Given the description of an element on the screen output the (x, y) to click on. 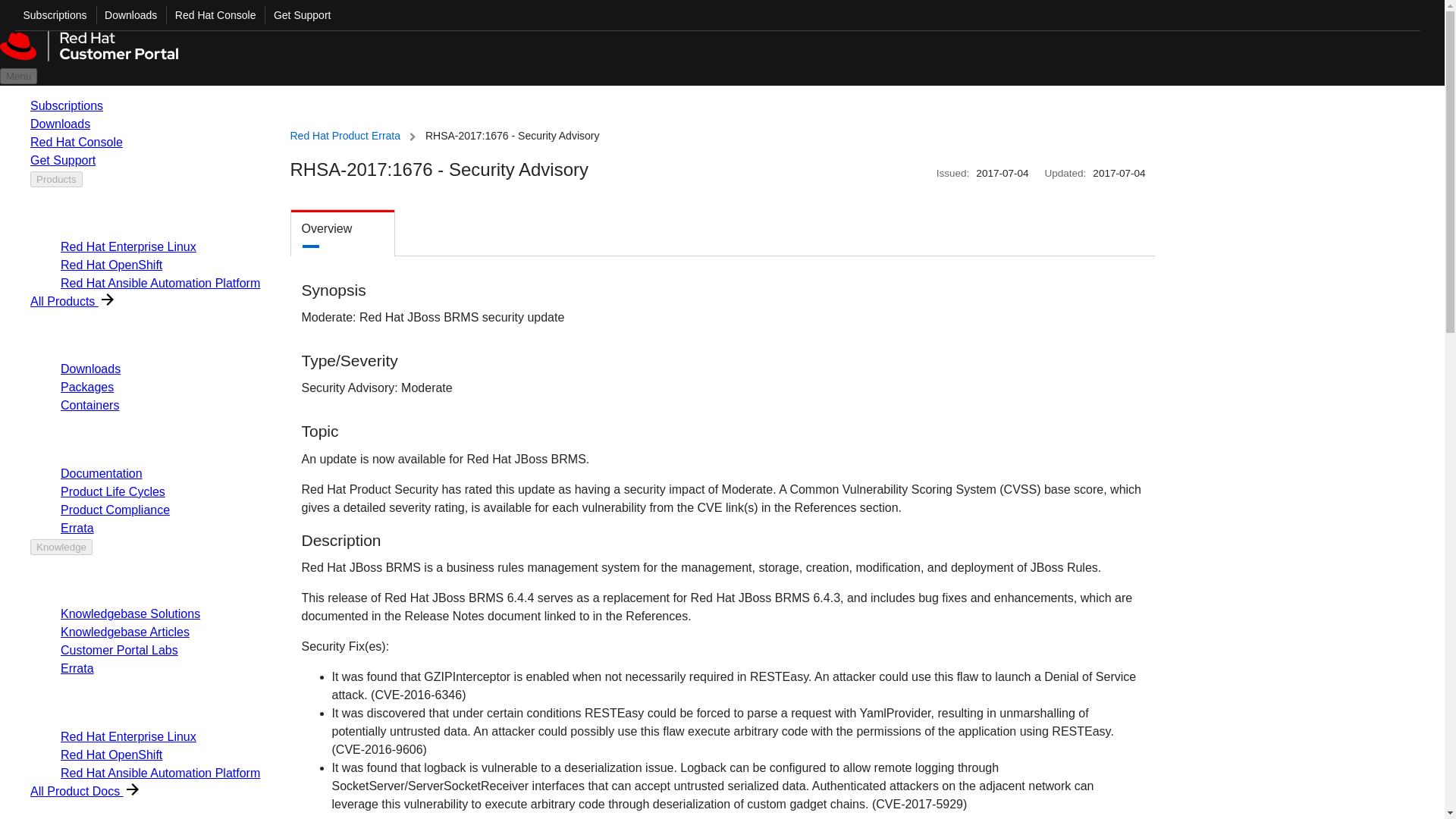
Subscriptions (50, 14)
Get Support (297, 14)
Downloads (126, 14)
Red Hat Console (210, 14)
